Given the description of an element on the screen output the (x, y) to click on. 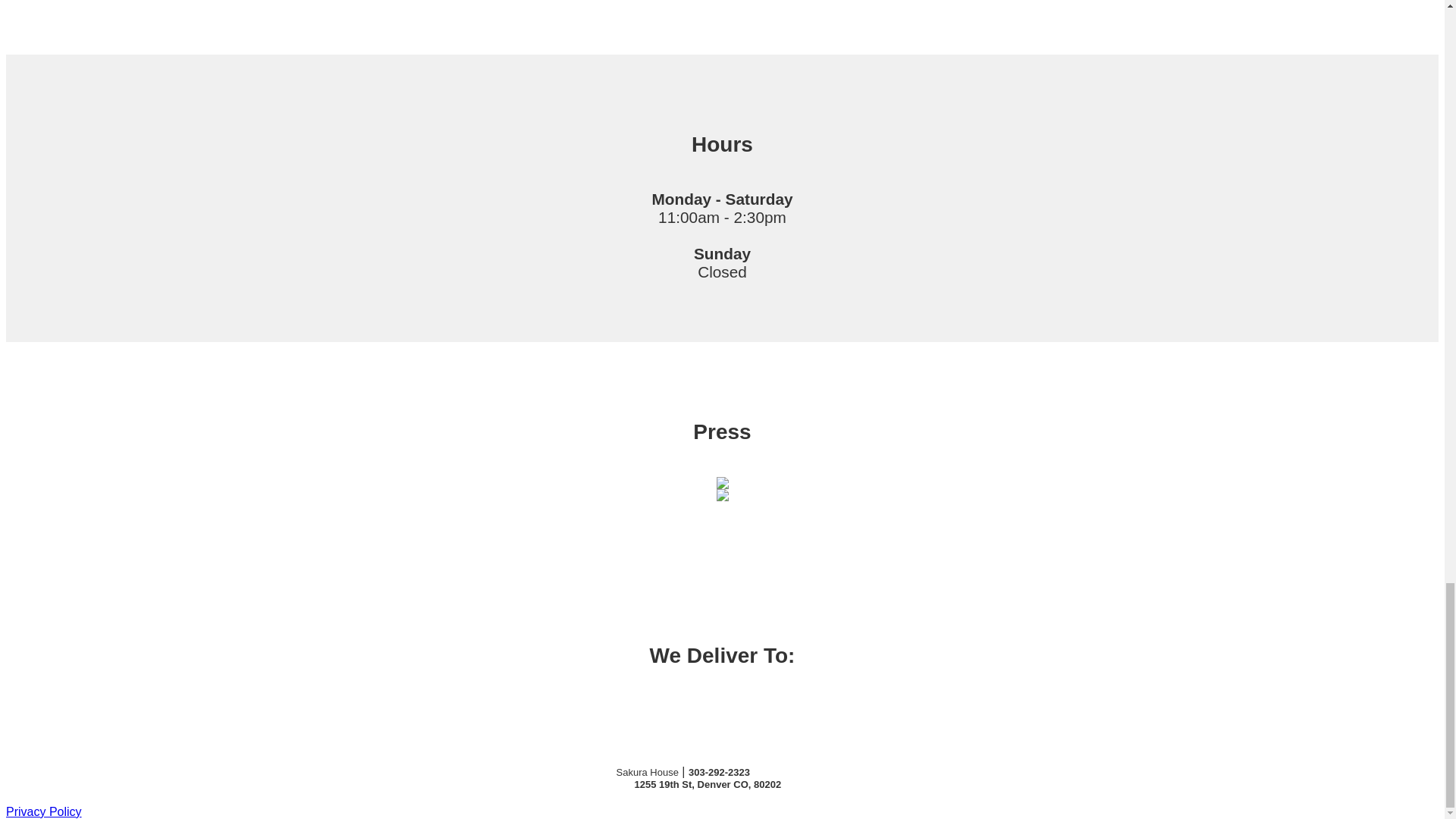
Privacy Policy (43, 811)
